Given the description of an element on the screen output the (x, y) to click on. 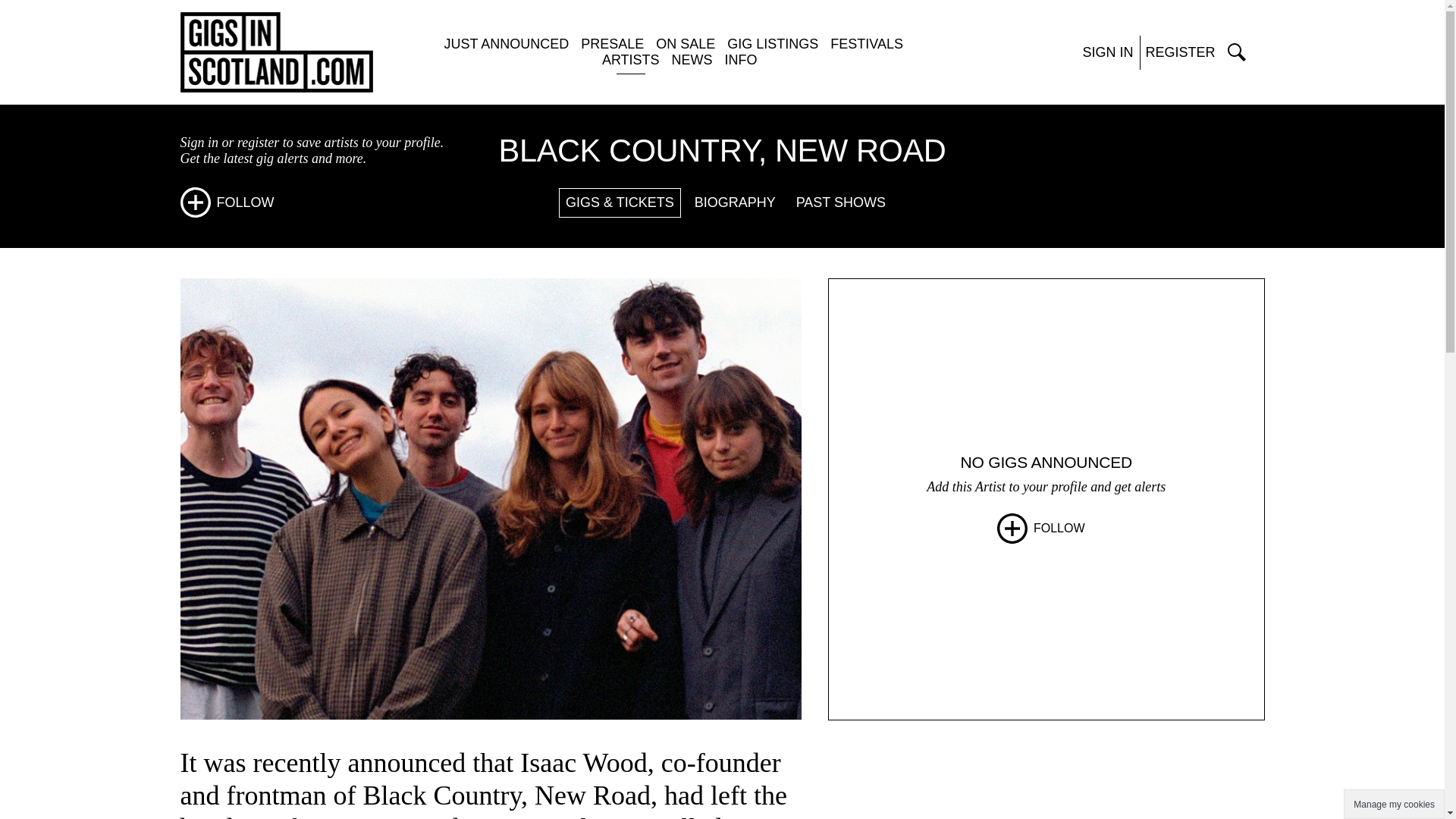
ON SALE (685, 43)
SIGN IN (1106, 51)
ARTISTS (630, 59)
GIG LISTINGS (772, 43)
FESTIVALS (865, 43)
NEWS (692, 59)
INFO (741, 59)
FOLLOW (227, 202)
JUST ANNOUNCED (506, 43)
PRESALE (611, 43)
REGISTER (1179, 51)
